Given the description of an element on the screen output the (x, y) to click on. 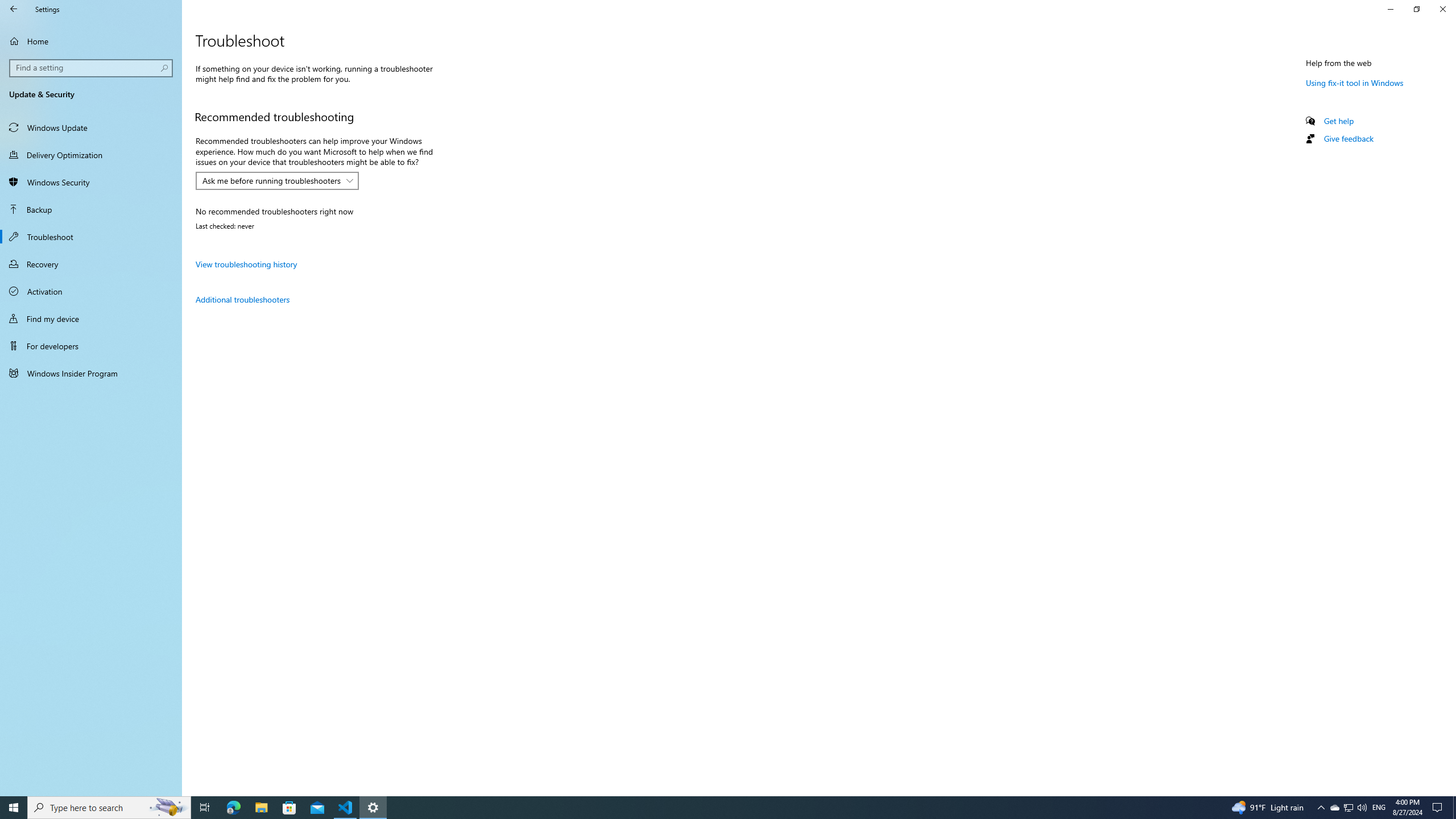
Task View (204, 807)
Home (91, 40)
Search box, Find a setting (91, 67)
For developers (91, 345)
Additional troubleshooters (242, 299)
Windows Update (91, 126)
Running applications (706, 807)
Recovery (91, 263)
Tray Input Indicator - English (United States) (1378, 807)
Notification Chevron (1320, 807)
View troubleshooting history (246, 263)
Delivery Optimization (91, 154)
User Promoted Notification Area (1347, 807)
